Given the description of an element on the screen output the (x, y) to click on. 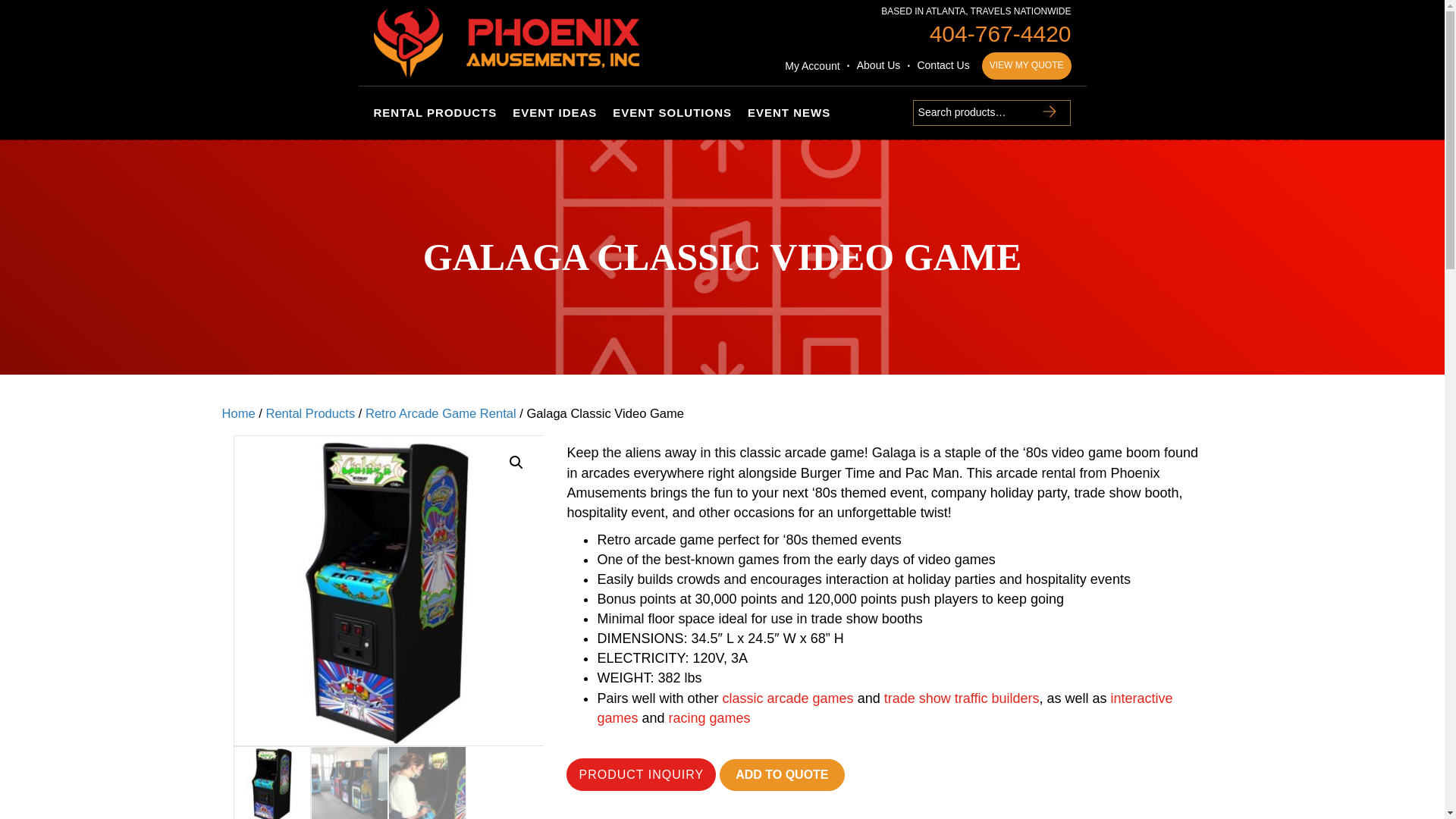
Contact Us (938, 65)
interactive games (884, 708)
EVENT SOLUTIONS (672, 112)
PAI-F (505, 41)
racing games (709, 717)
classic arcade games (787, 698)
EVENT NEWS (788, 112)
Rental Products (309, 413)
Home (237, 413)
My Account (811, 65)
Search (1048, 111)
trade show traffic builders (961, 698)
VIEW MY QUOTE (1026, 65)
RENTAL PRODUCTS (437, 112)
404-767-4420 (1000, 33)
